Given the description of an element on the screen output the (x, y) to click on. 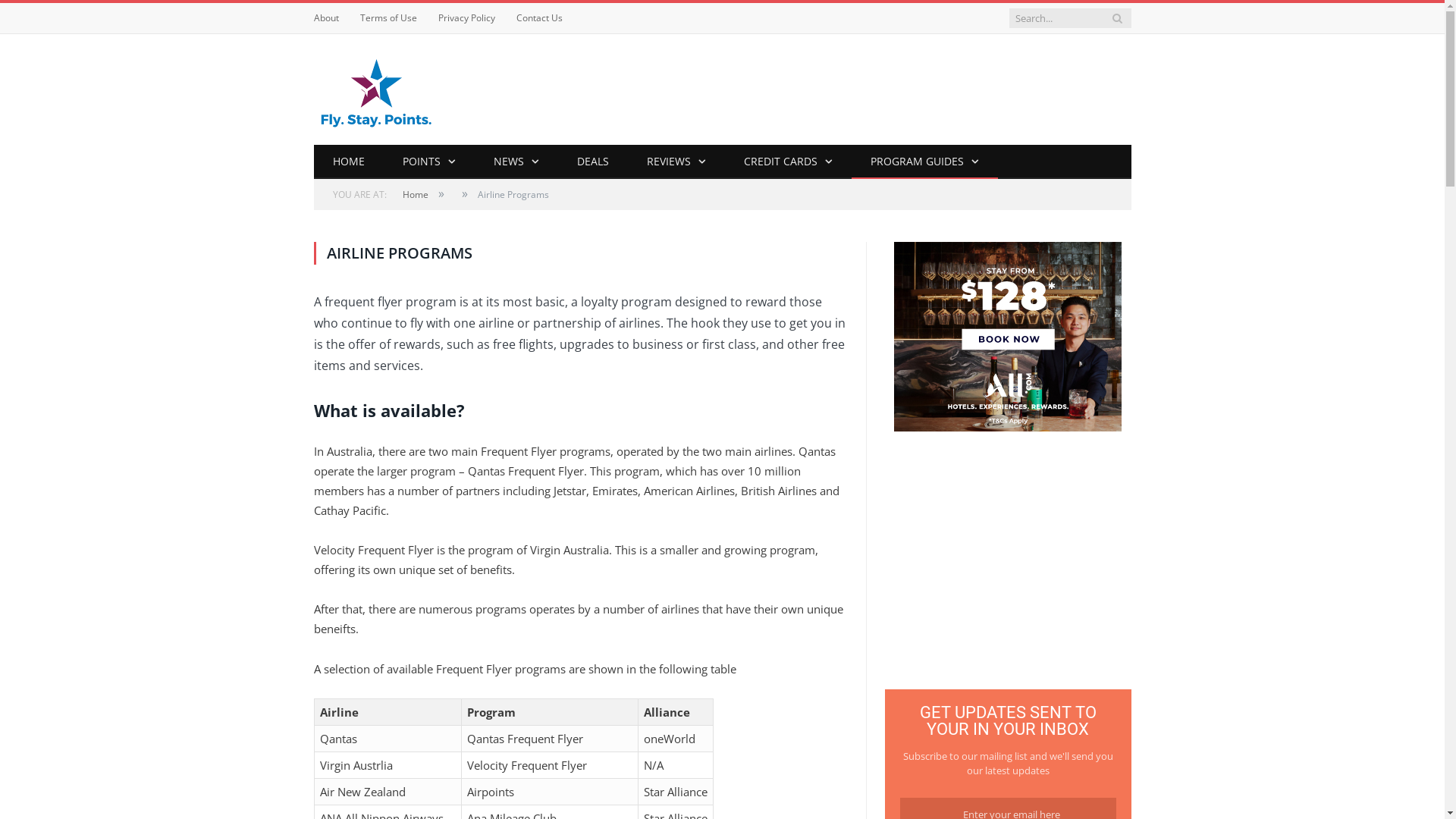
Privacy Policy Element type: text (466, 17)
Terms of Use Element type: text (387, 17)
PROGRAM GUIDES Element type: text (923, 161)
Fly Stay Points Element type: hover (376, 88)
DEALS Element type: text (592, 161)
Advertisement Element type: hover (1007, 561)
NEWS Element type: text (516, 161)
POINTS Element type: text (428, 161)
HOME Element type: text (348, 161)
CREDIT CARDS Element type: text (787, 161)
Home Element type: text (414, 194)
REVIEWS Element type: text (675, 161)
About Element type: text (325, 17)
Contact Us Element type: text (538, 17)
Advertisement Element type: hover (855, 89)
